Given the description of an element on the screen output the (x, y) to click on. 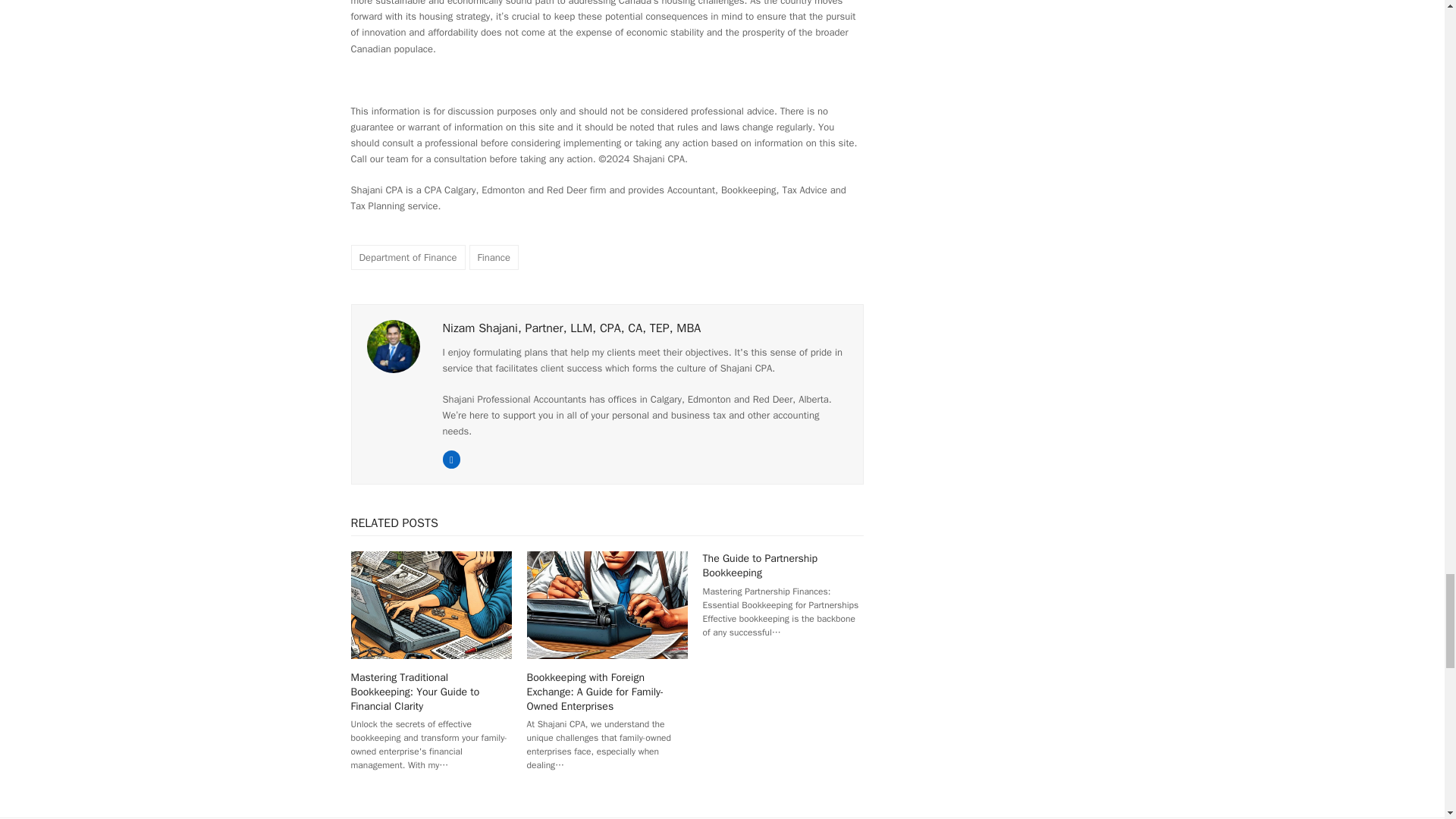
Visit Author Page (571, 328)
Visit Author Page (393, 345)
